Given the description of an element on the screen output the (x, y) to click on. 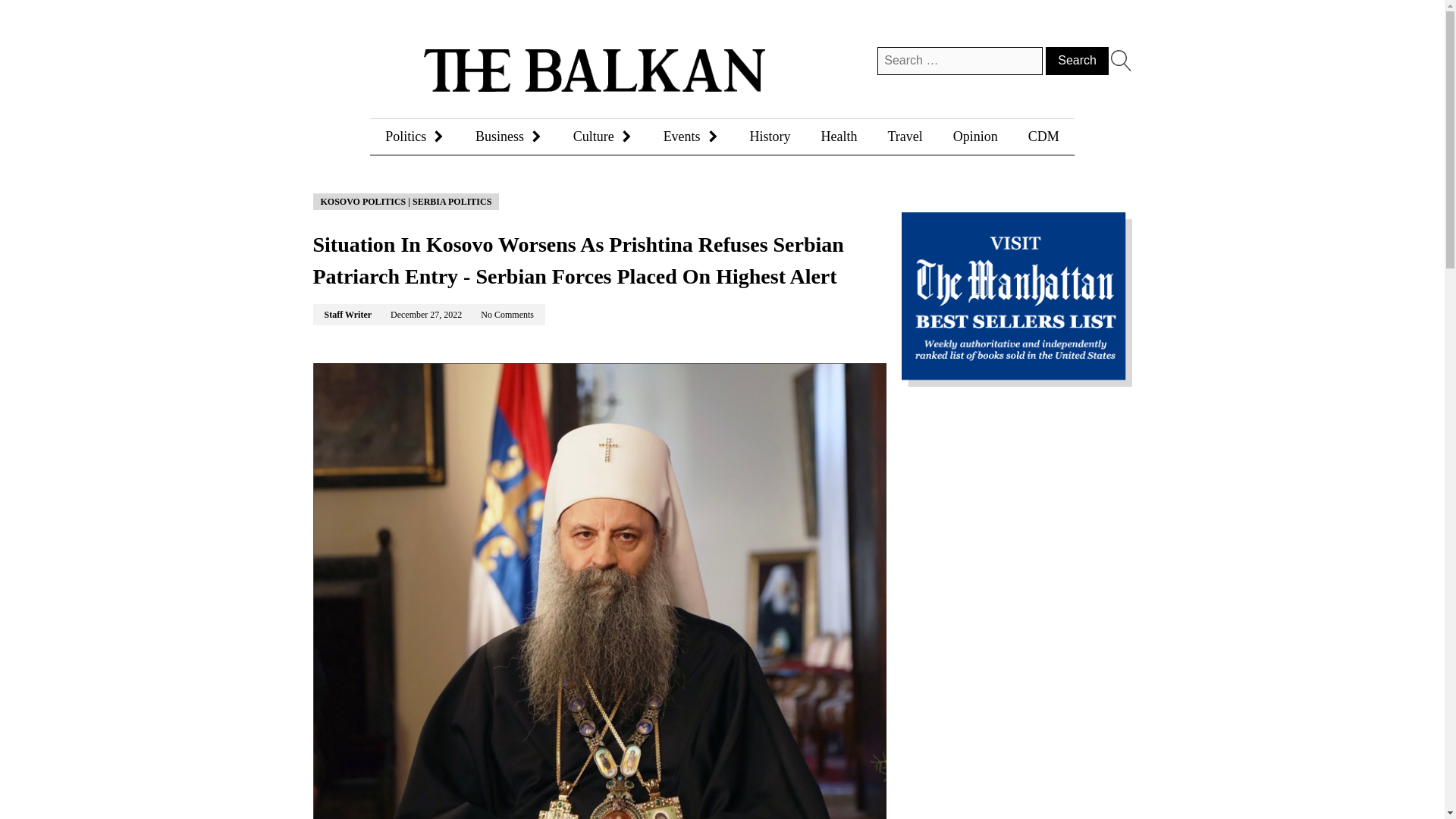
Politics (414, 134)
Events (691, 134)
Business (508, 134)
Search (1076, 60)
Culture (602, 134)
Search (1076, 60)
Search (1076, 60)
